Given the description of an element on the screen output the (x, y) to click on. 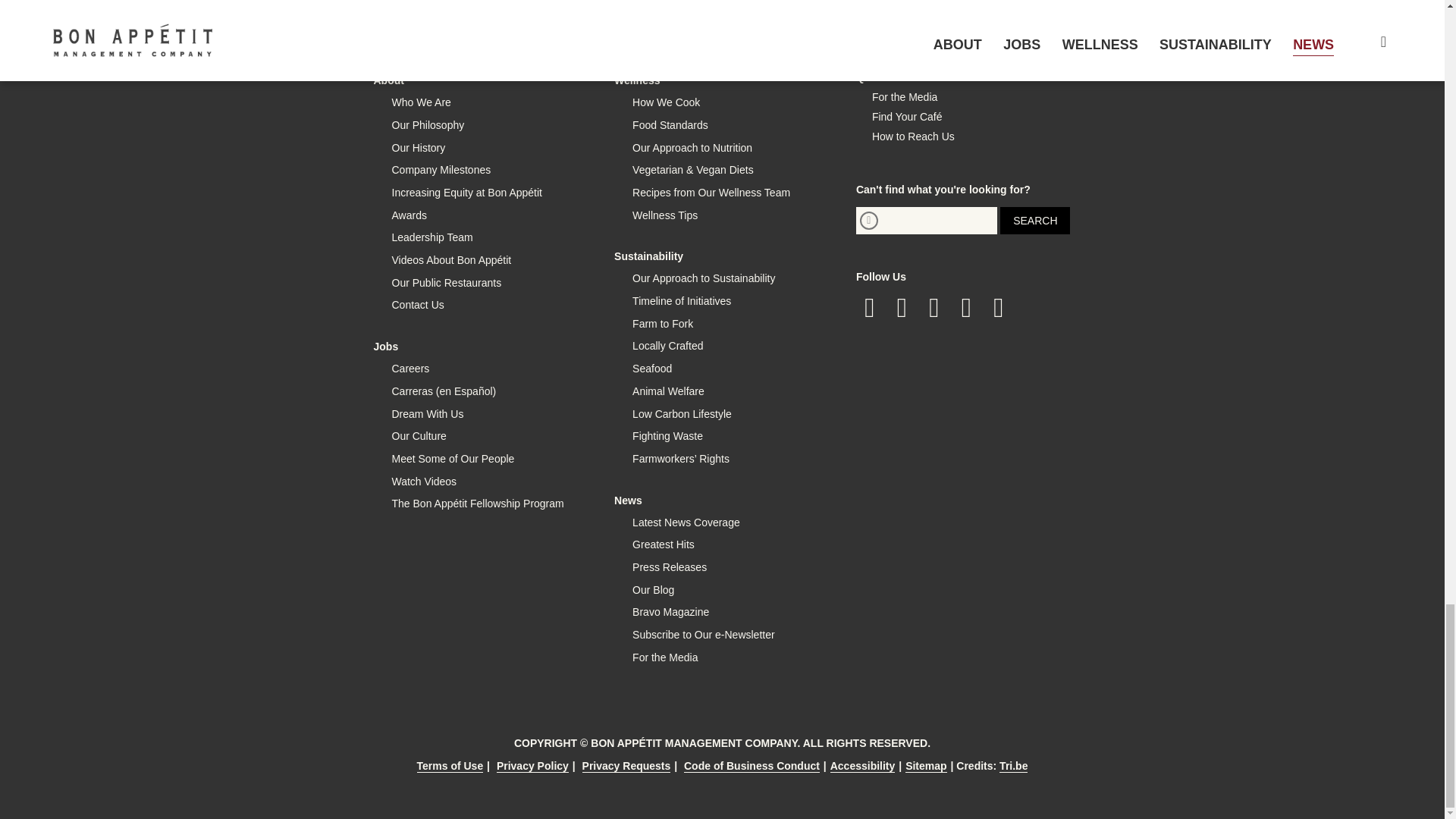
Follow us on LinkedIn (965, 308)
Follow us on Instagram (933, 308)
Search (1035, 220)
Follow us on Facebook (869, 308)
Follow us on Twitter (901, 308)
